Given the description of an element on the screen output the (x, y) to click on. 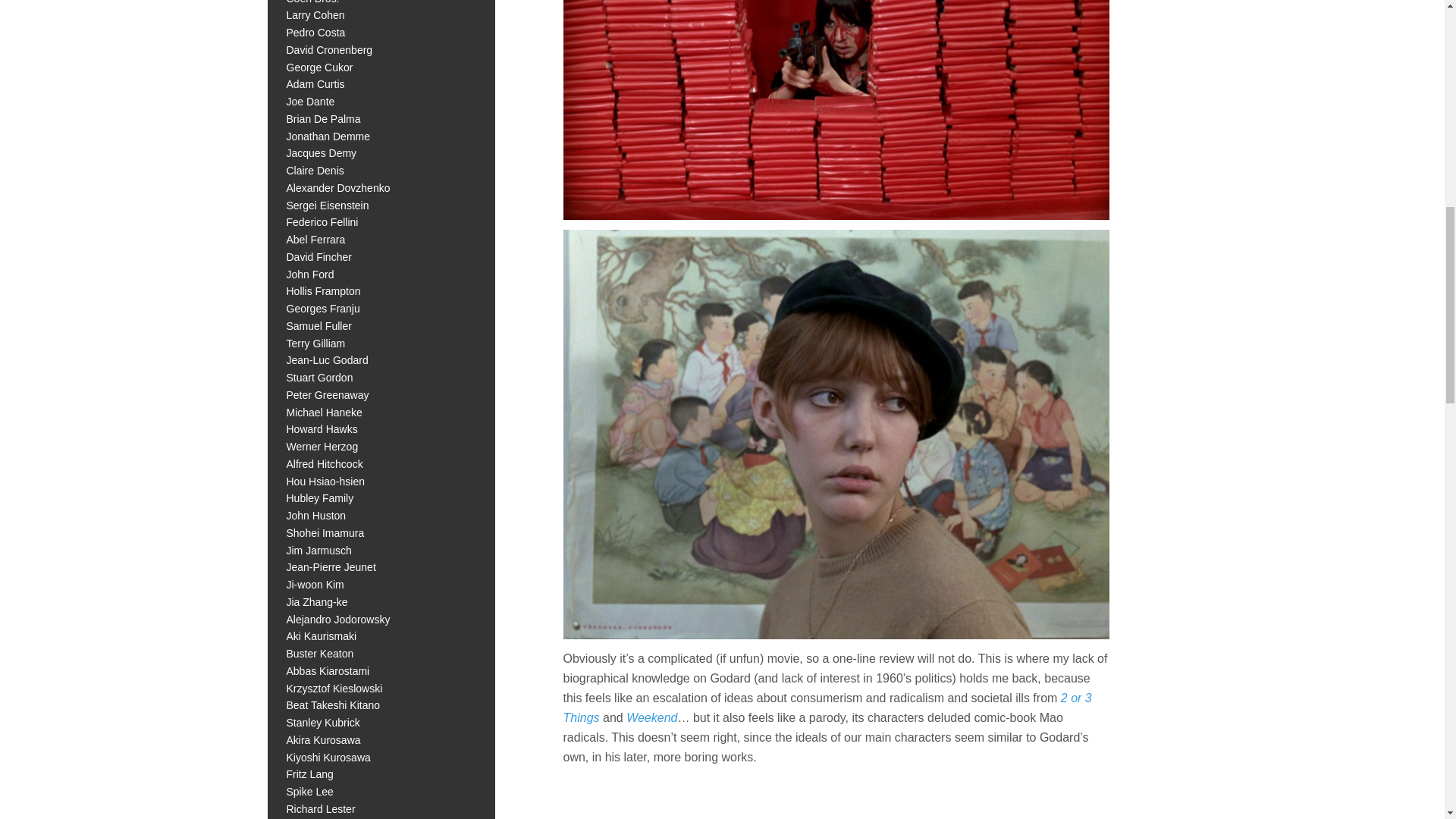
Larry Cohen (315, 15)
Brian De Palma (323, 119)
Federico Fellini (322, 222)
Pedro Costa (316, 32)
Jonathan Demme (328, 136)
Joe Dante (310, 101)
Jacques Demy (321, 152)
Coen Bros. (312, 2)
Sergei Eisenstein (327, 204)
Alexander Dovzhenko (338, 187)
Adam Curtis (315, 83)
George Cukor (319, 66)
Claire Denis (314, 170)
David Cronenberg (329, 50)
